Given the description of an element on the screen output the (x, y) to click on. 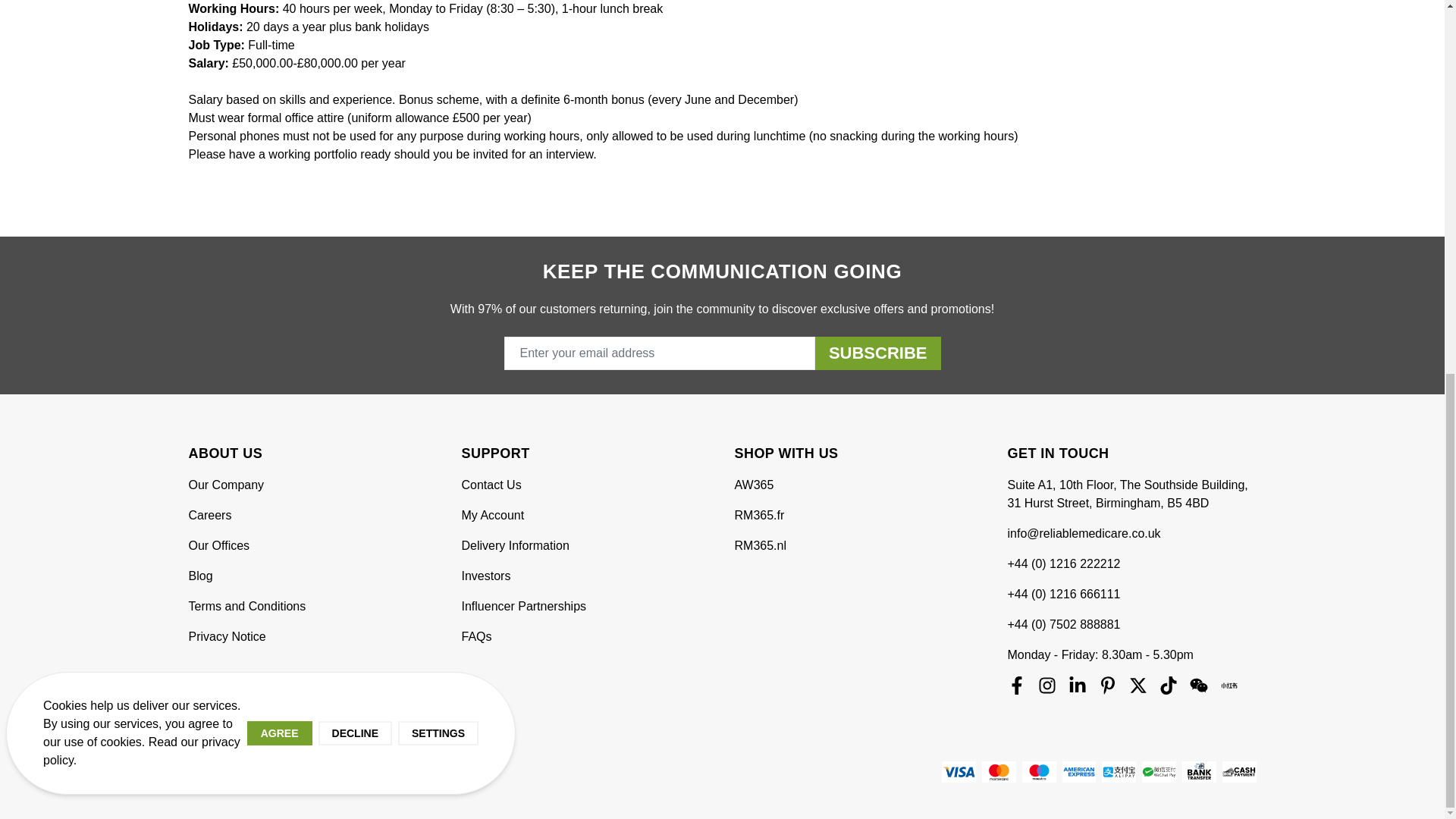
SETTINGS (438, 48)
Read our privacy policy (141, 66)
DECLINE (354, 48)
AGREE (280, 48)
